Given the description of an element on the screen output the (x, y) to click on. 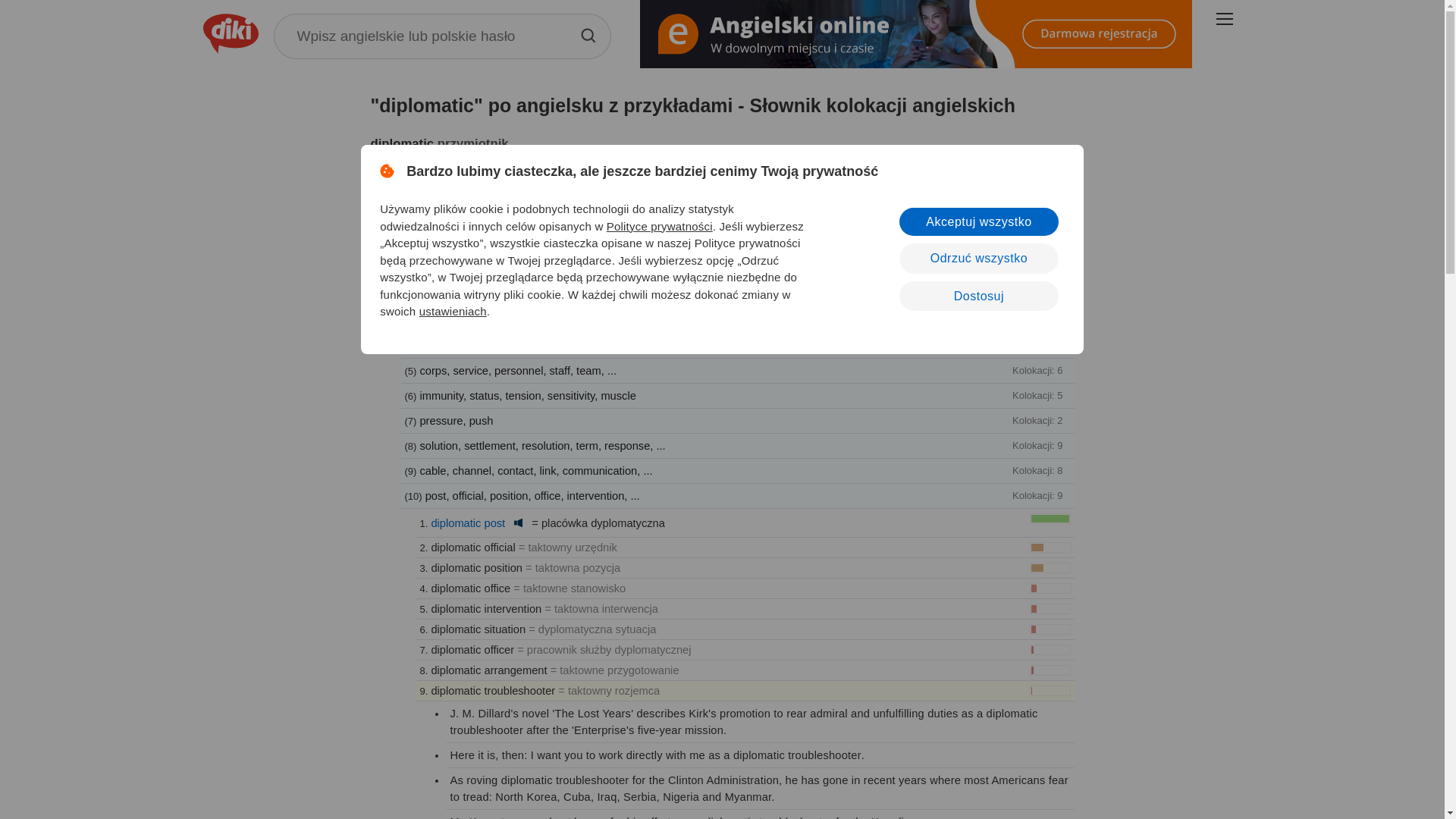
cable, channel, contact, link, communication, ... (535, 470)
diplomatic post (467, 522)
diplomatic official (472, 547)
post, official, position, office, intervention, ... (532, 495)
corps, service, personnel, staff, team, ... (517, 370)
diplomatic office (470, 588)
American English (518, 522)
immunity, status, tension, sensitivity, muscle (526, 395)
kolokacje pogrupowane znaczeniowo (481, 245)
solution, settlement, resolution, term, response, ... (542, 445)
effort, offensive, attempt, endeavor, foray (520, 320)
Szukaj (587, 35)
diplomatic position (476, 567)
